Given the description of an element on the screen output the (x, y) to click on. 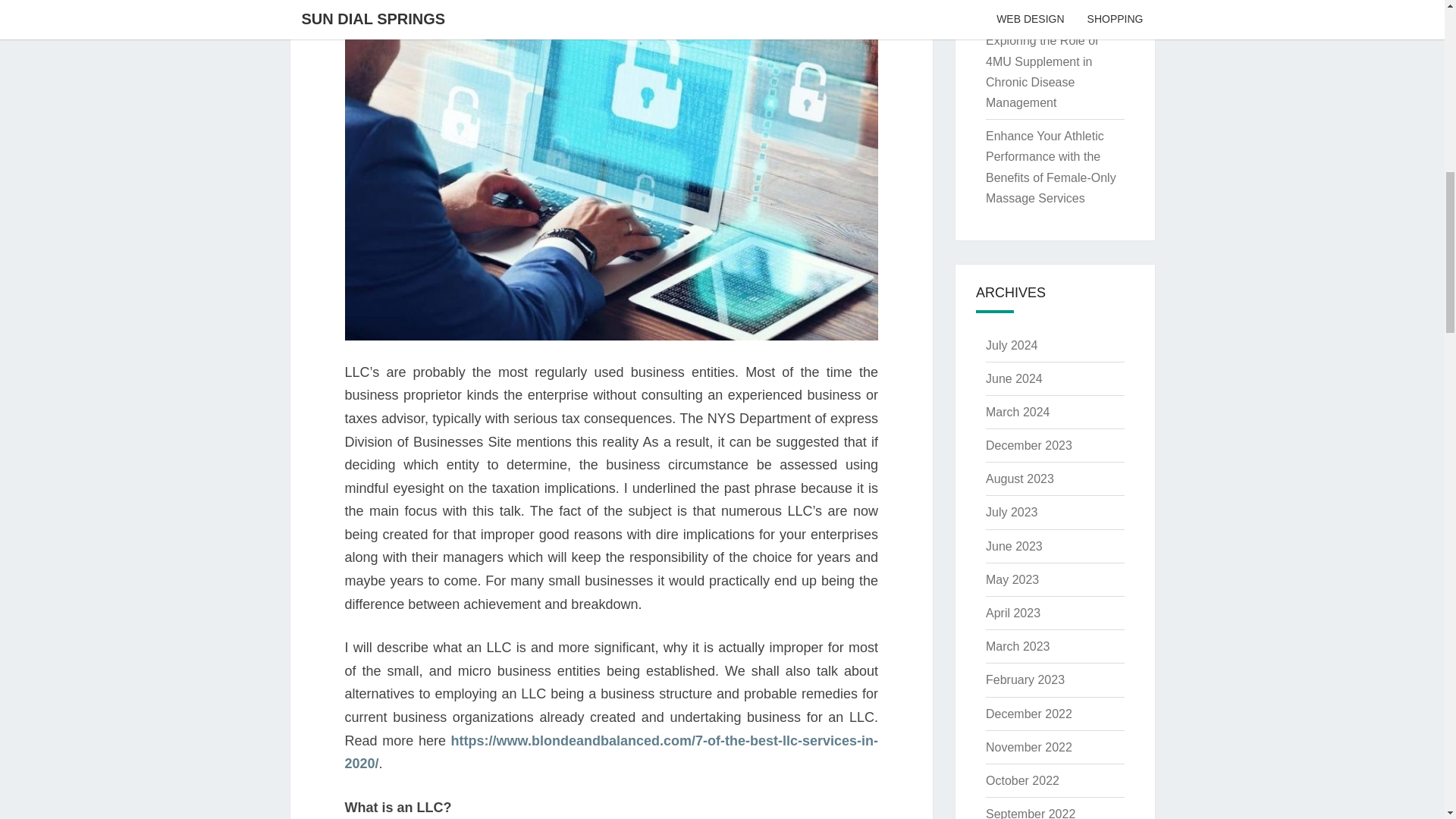
July 2024 (1011, 345)
March 2024 (1017, 411)
July 2023 (1011, 512)
August 2023 (1019, 478)
December 2023 (1028, 445)
June 2023 (1013, 545)
February 2023 (1024, 679)
December 2022 (1028, 713)
April 2023 (1013, 612)
June 2024 (1013, 378)
October 2022 (1022, 780)
March 2023 (1017, 645)
